Given the description of an element on the screen output the (x, y) to click on. 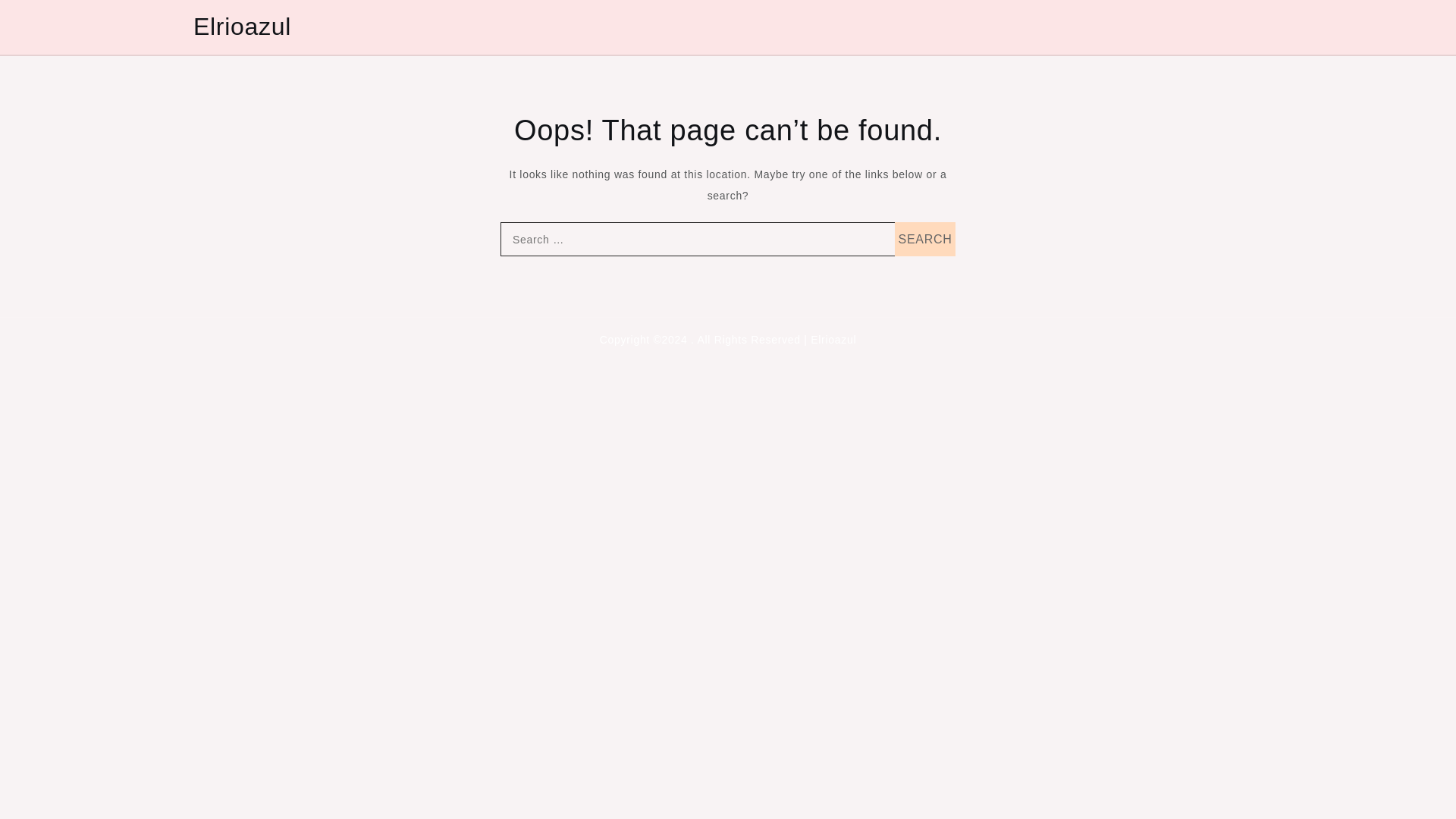
Search (925, 238)
Search (925, 238)
Search (925, 238)
Elrioazul (242, 26)
